Given the description of an element on the screen output the (x, y) to click on. 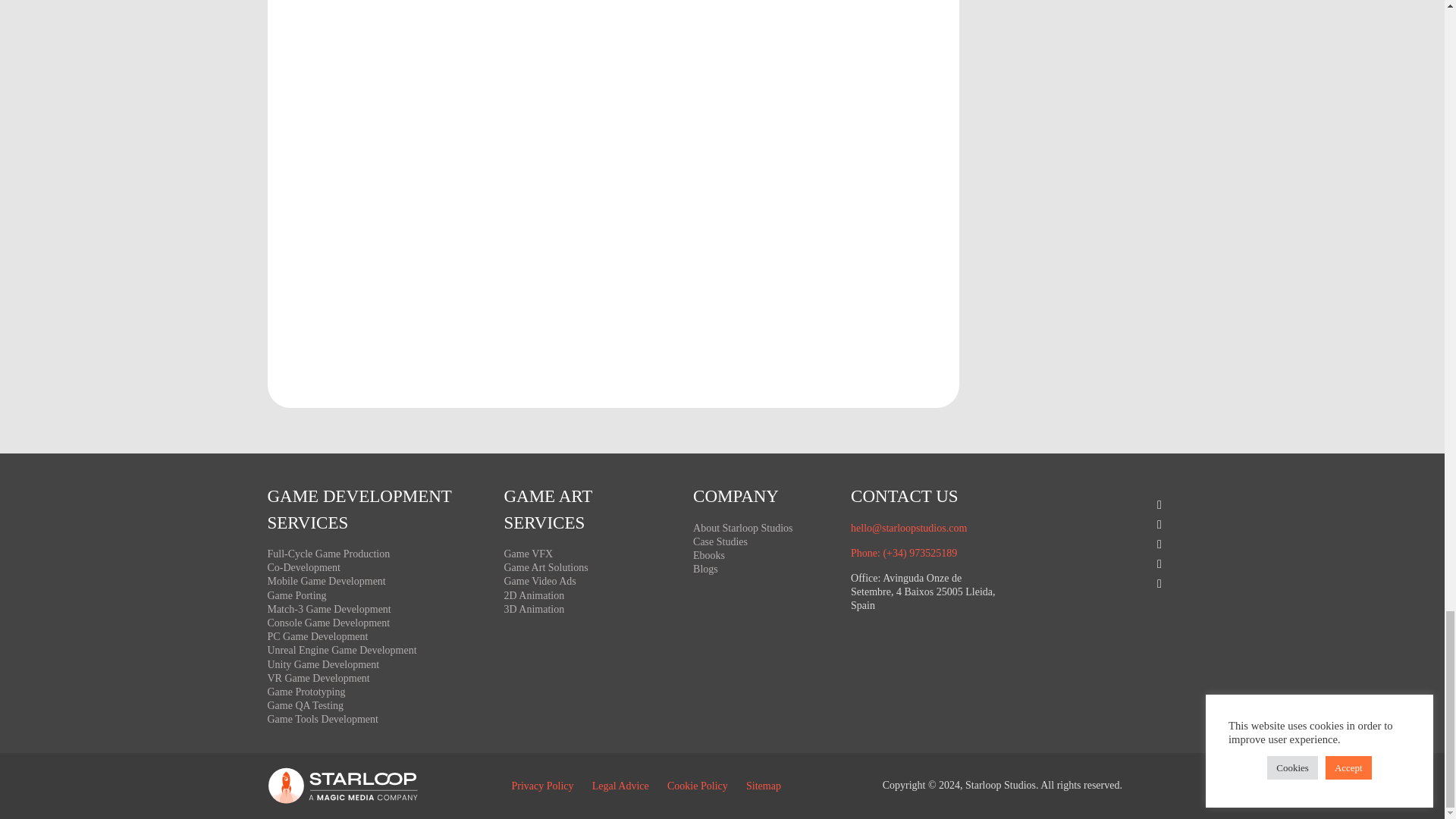
LinkedIn (1101, 583)
Facebook (1101, 504)
Twitter (1101, 524)
Instagram (1101, 544)
YouTube (1101, 563)
